Given the description of an element on the screen output the (x, y) to click on. 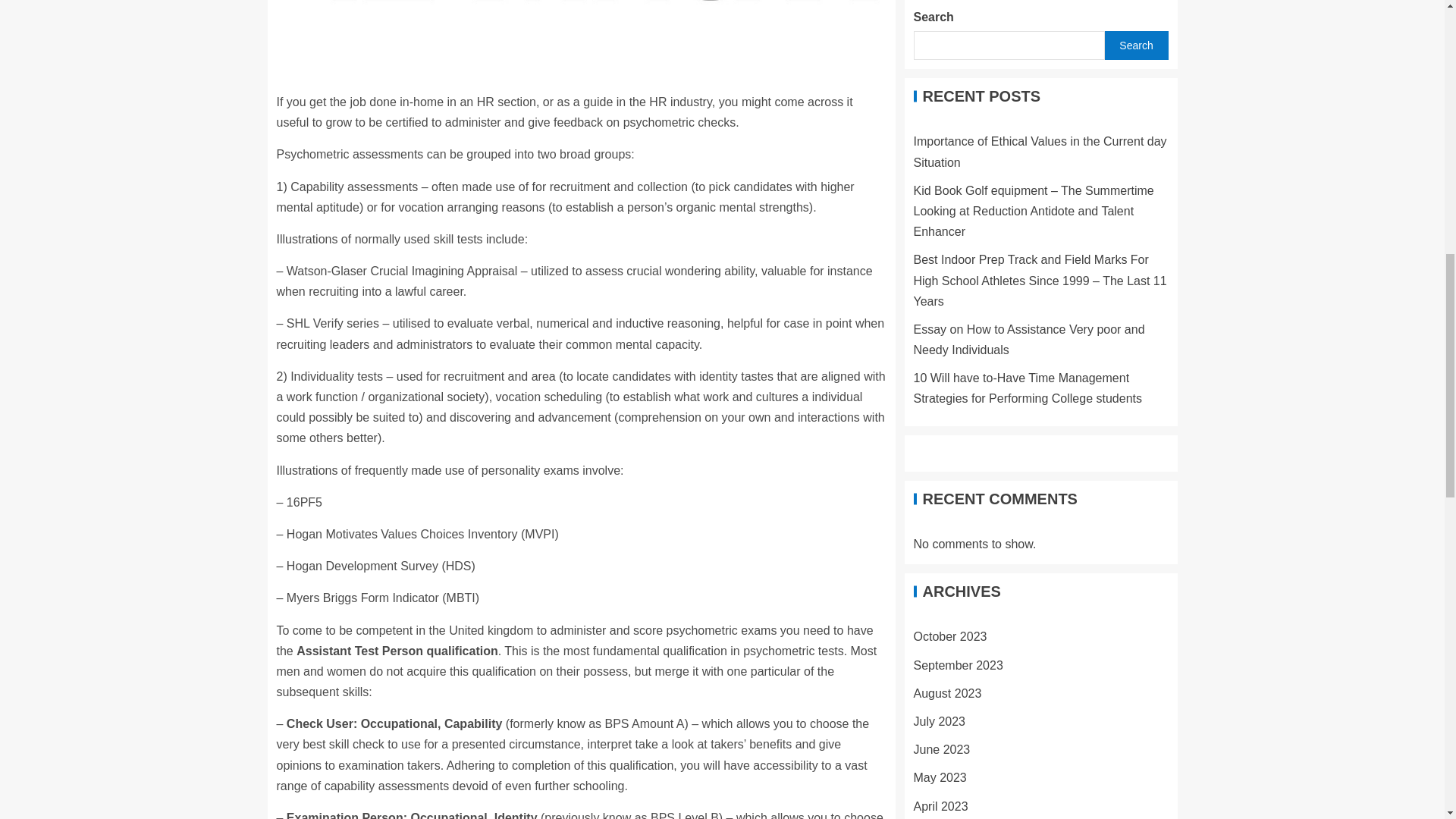
Seedbacklink (976, 809)
